Given the description of an element on the screen output the (x, y) to click on. 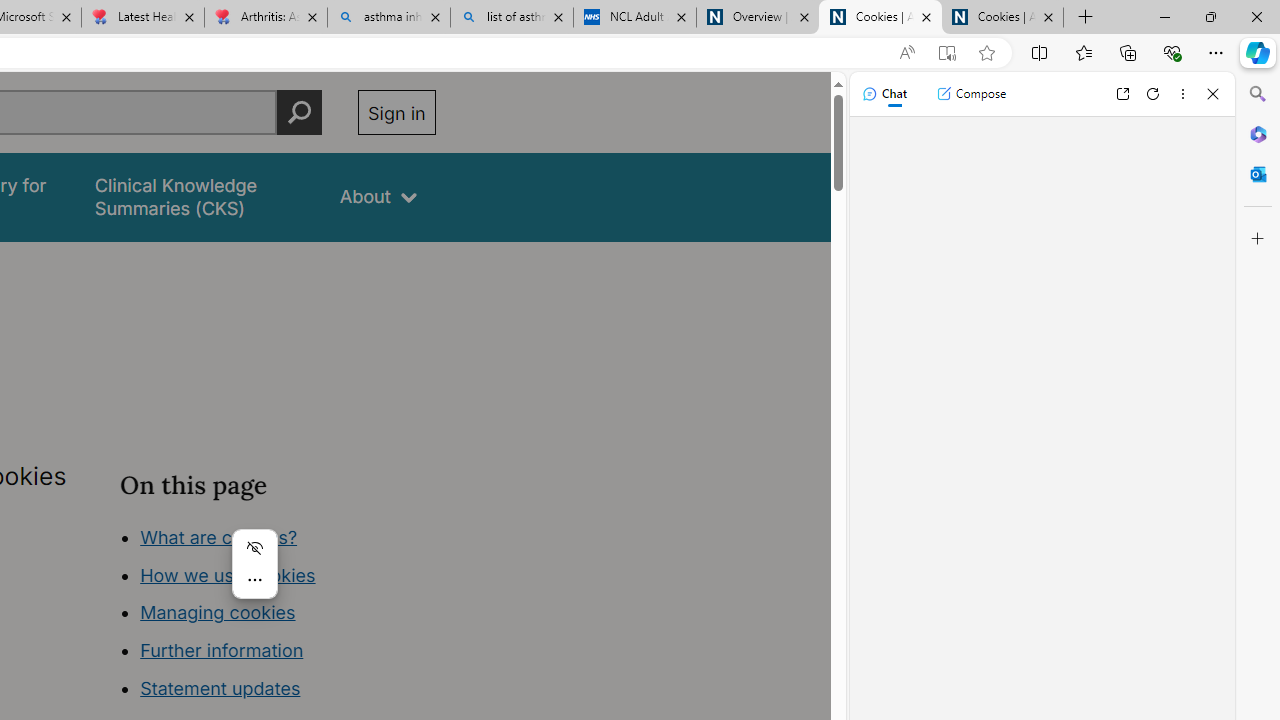
About (378, 196)
Mini menu on text selection (254, 563)
list of asthma inhalers uk - Search (511, 17)
Statement updates (219, 688)
NCL Adult Asthma Inhaler Choice Guideline (634, 17)
